Given the description of an element on the screen output the (x, y) to click on. 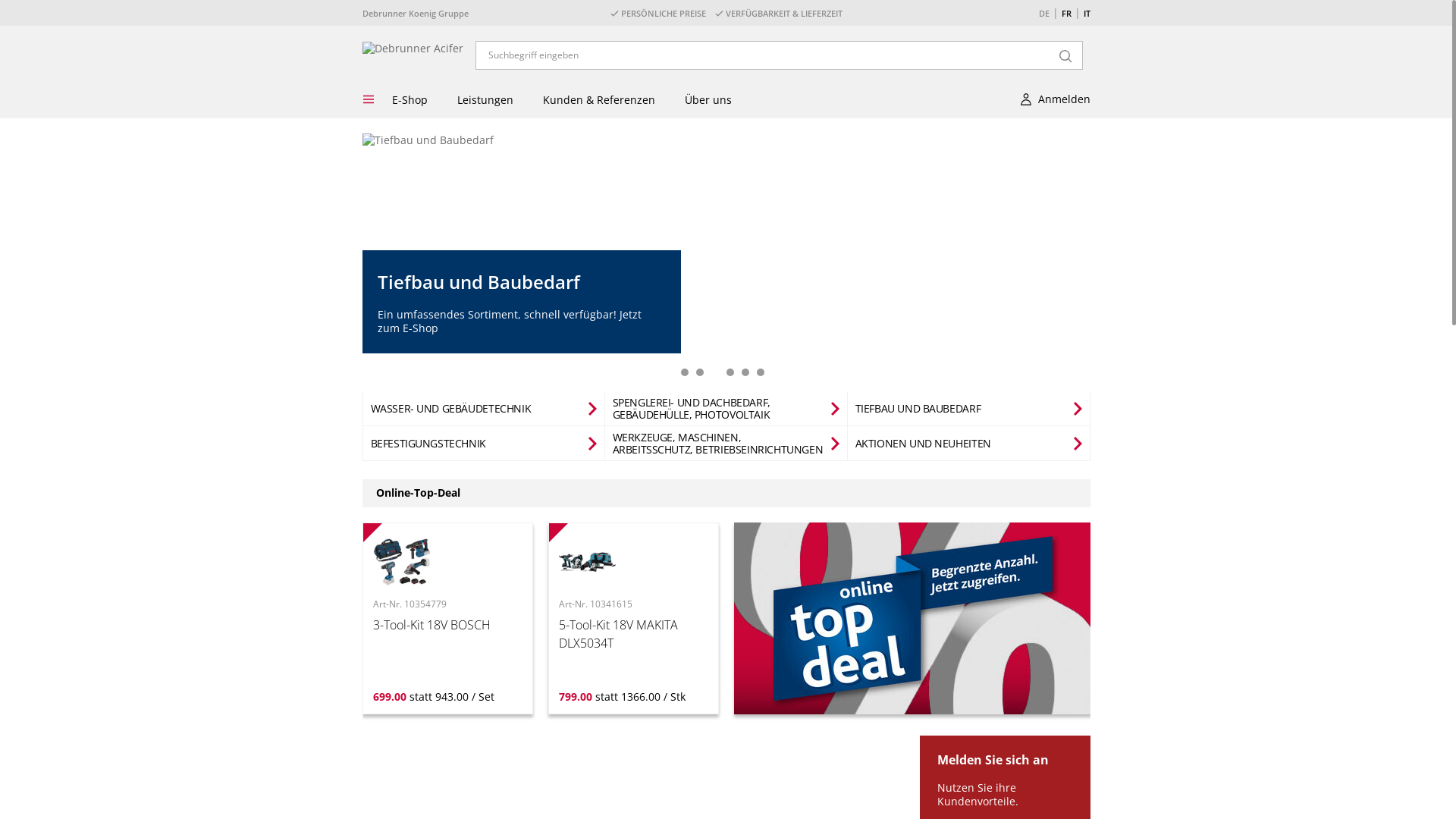
Kunden & Referenzen Element type: text (598, 99)
2 Element type: text (699, 372)
6 Element type: text (760, 372)
DE Element type: text (1043, 12)
AKTIONEN UND NEUHEITEN Element type: text (930, 443)
TIEFBAU UND BAUBEDARF Element type: text (925, 408)
1 Element type: text (684, 372)
Menu Element type: hover (369, 99)
Anmelden Element type: text (1052, 103)
IT Element type: text (1085, 12)
3 Element type: text (714, 372)
4 Element type: text (730, 372)
Debrunner Acifer Element type: text (412, 48)
FR Element type: text (1066, 12)
Debrunner Acifer Element type: hover (412, 48)
WERKZEUGE, MASCHINEN, ARBEITSSCHUTZ, BETRIEBSEINRICHTUNGEN Element type: text (726, 443)
Leistungen Element type: text (484, 99)
5 Element type: text (745, 372)
BEFESTIGUNGSTECHNIK Element type: text (435, 443)
Search Element type: hover (1065, 54)
E-Shop Element type: text (409, 99)
